Given the description of an element on the screen output the (x, y) to click on. 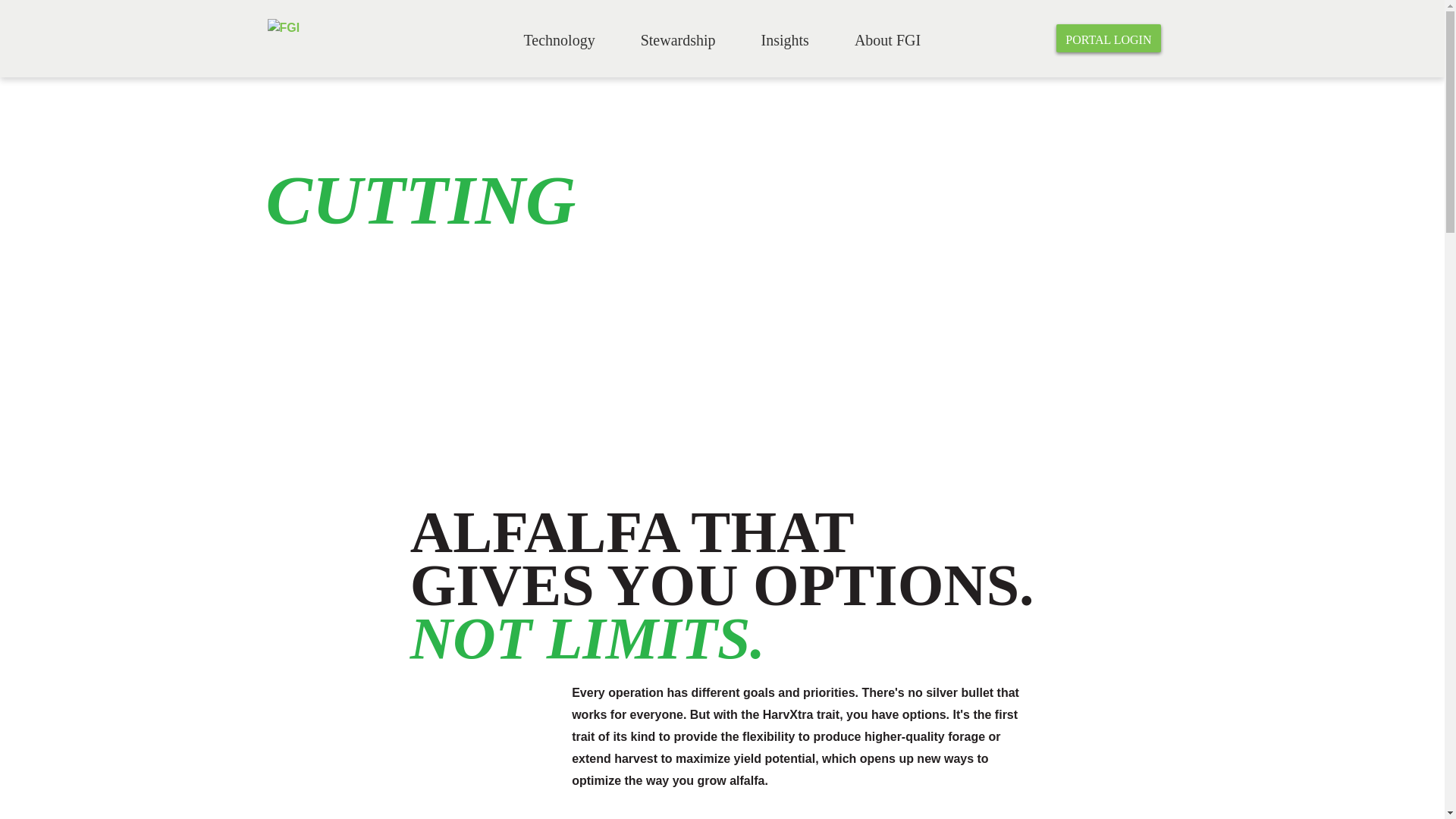
Technology (559, 40)
About FGI (888, 40)
Stewardship (678, 40)
Insights (785, 40)
PORTAL LOGIN (1108, 38)
GIVE ME THE EDGE (364, 392)
